Given the description of an element on the screen output the (x, y) to click on. 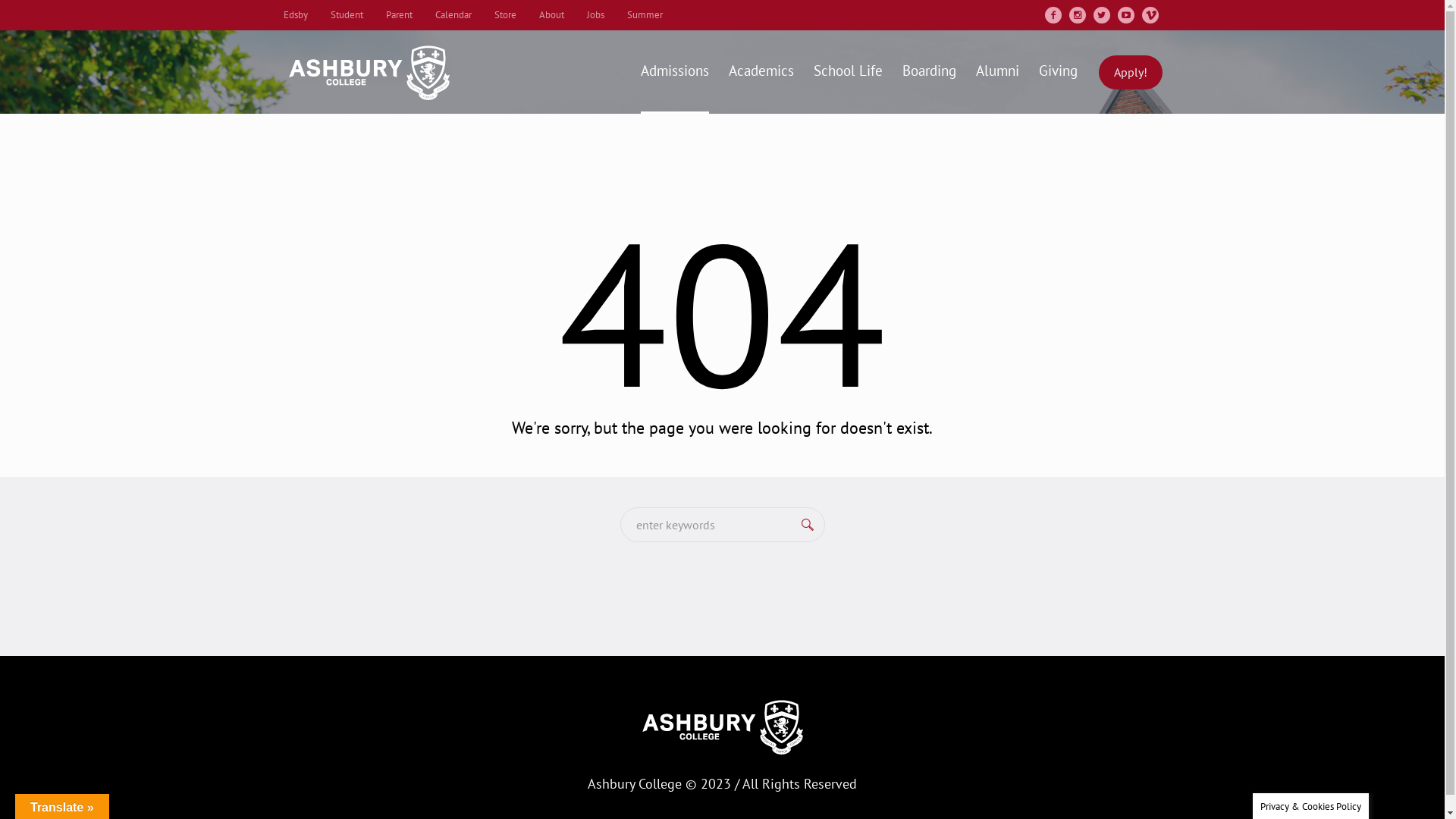
Academics Element type: text (760, 71)
Calendar Element type: text (453, 14)
Instagram Element type: hover (1077, 14)
School Life Element type: text (847, 71)
YouTube Element type: hover (1125, 14)
Alumni Element type: text (997, 71)
Boarding Element type: text (928, 71)
ACCEPT Element type: text (1071, 794)
Edsby Element type: text (295, 14)
Facebook Element type: hover (1052, 14)
Giving Element type: text (1057, 71)
Store Element type: text (505, 14)
Apply! Element type: text (1129, 71)
Ashbury College Element type: hover (722, 726)
Student Element type: text (346, 14)
Cookie settings Element type: text (982, 792)
Summer Element type: text (644, 14)
About Element type: text (550, 14)
Vimeo Element type: hover (1150, 14)
Twitter Element type: hover (1101, 14)
Parent Element type: text (398, 14)
Admissions Element type: text (674, 71)
Jobs Element type: text (595, 14)
